Given the description of an element on the screen output the (x, y) to click on. 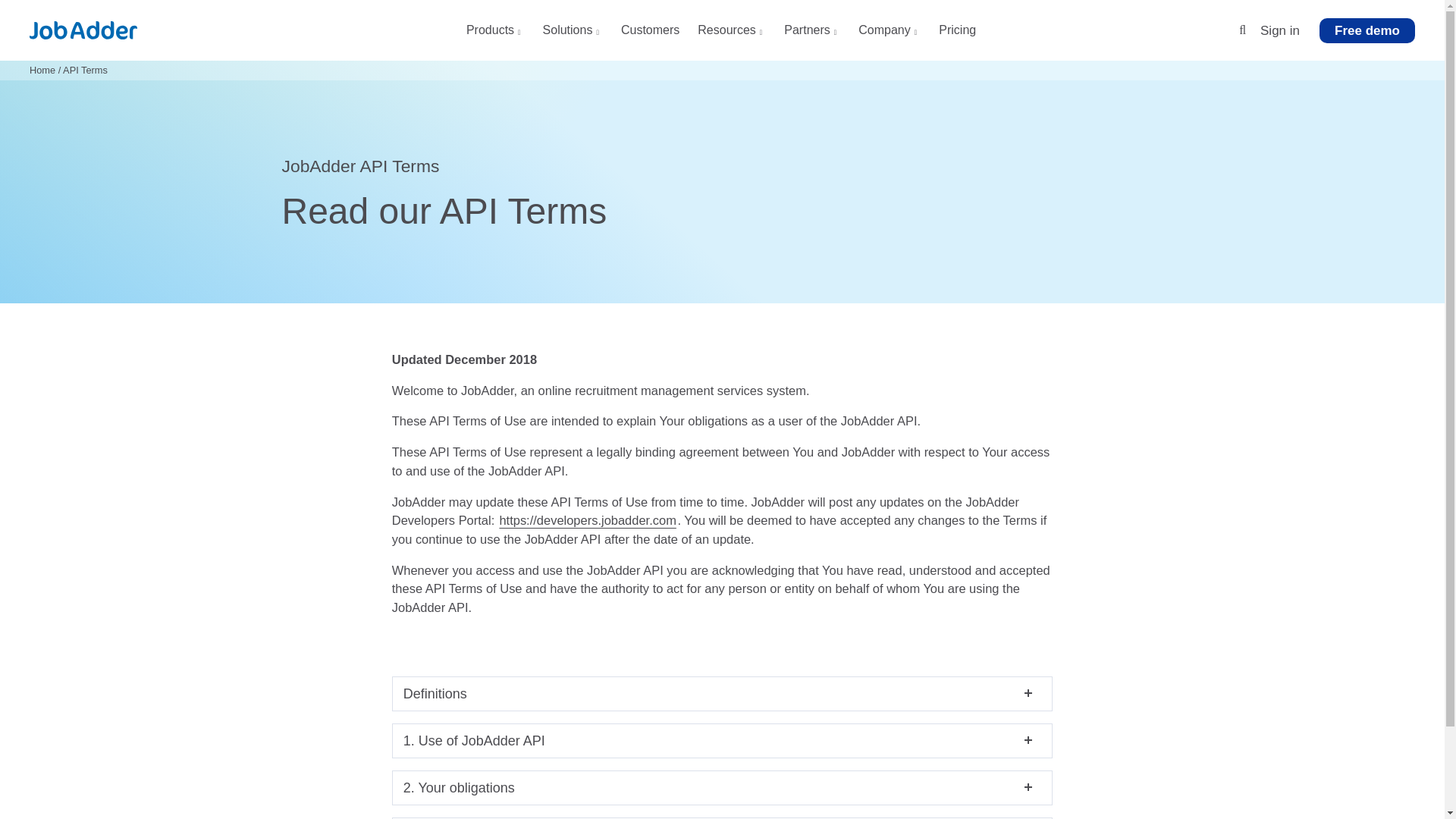
Customers (650, 34)
Solutions (572, 34)
Products (494, 34)
Search site (1241, 30)
Resources (731, 34)
